Given the description of an element on the screen output the (x, y) to click on. 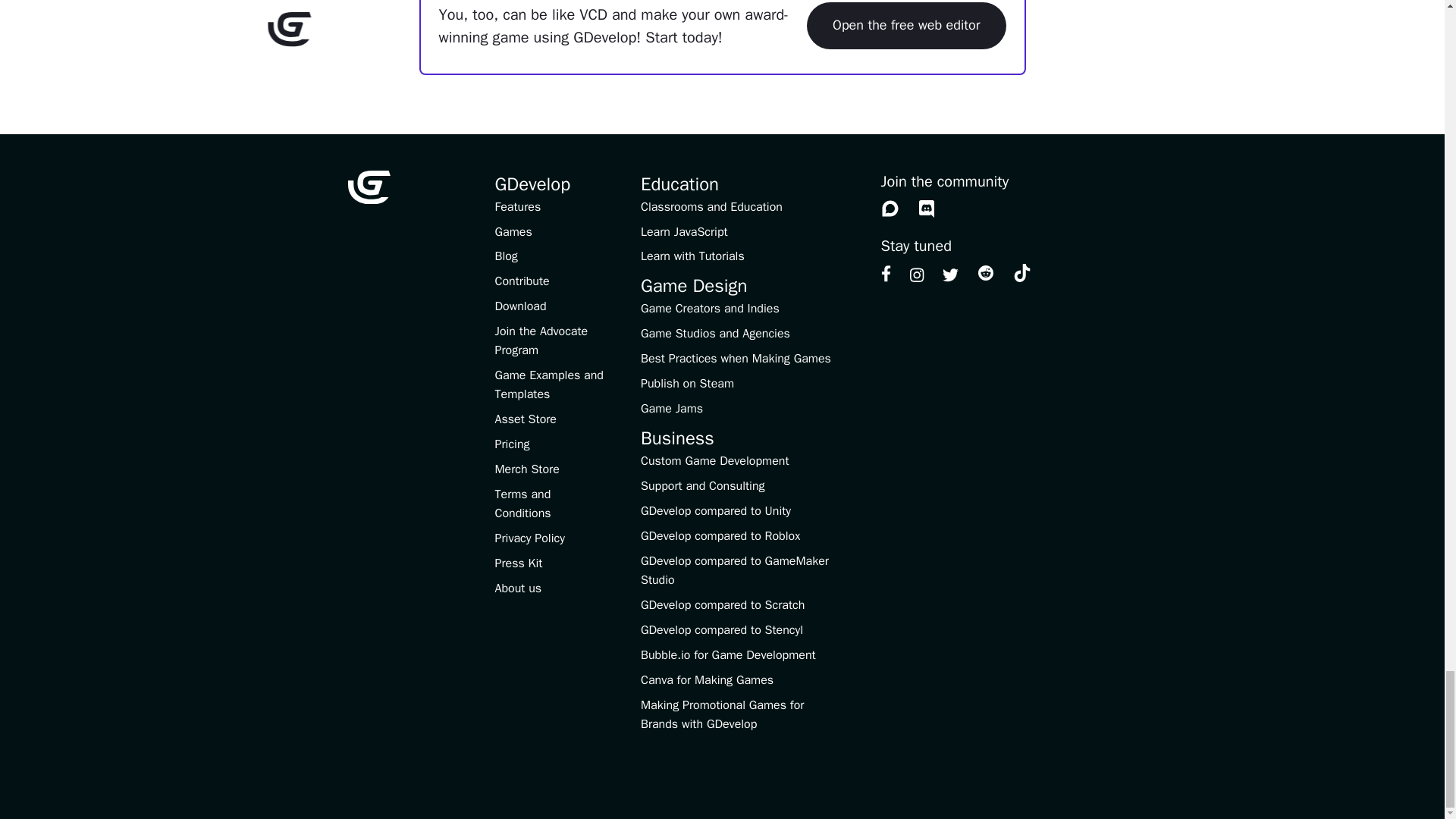
Contribute (521, 281)
Merch Store (527, 468)
Games (513, 231)
Terms and Conditions (522, 503)
Game Jams (671, 408)
Game Studios and Agencies (715, 333)
Features (517, 206)
Open the free web editor (906, 25)
Publish on Steam (686, 383)
Join the Advocate Program (541, 340)
